Given the description of an element on the screen output the (x, y) to click on. 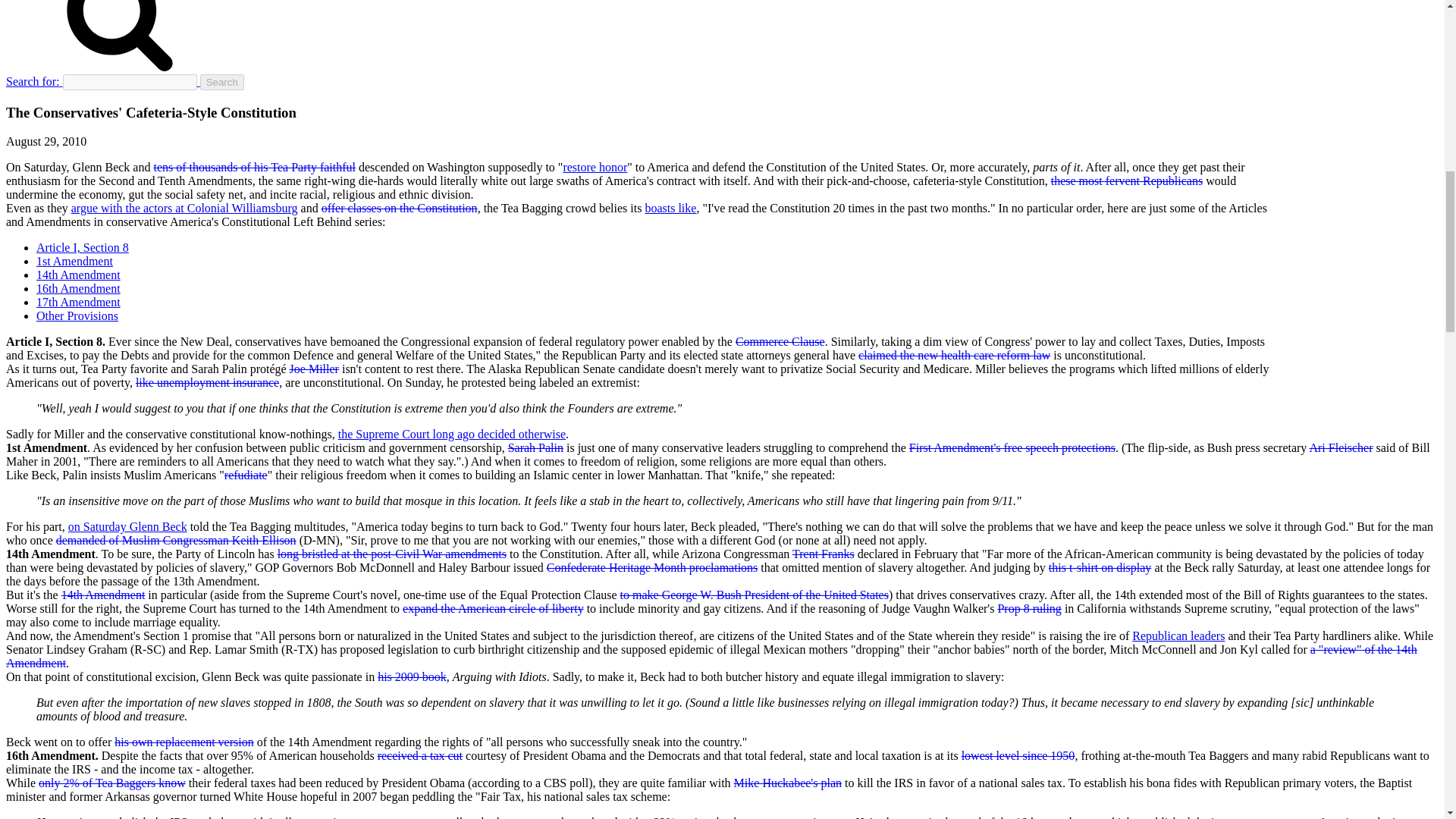
Search (222, 82)
boasts like (670, 207)
offer classes on the Constitution (399, 207)
1st Amendment (74, 260)
Article I, Section 8 (82, 246)
Search (222, 82)
these most fervent Republicans (1126, 180)
restore honor (594, 166)
argue with the actors at Colonial Williamsburg (184, 207)
tens of thousands of his Tea Party faithful (253, 166)
